Given the description of an element on the screen output the (x, y) to click on. 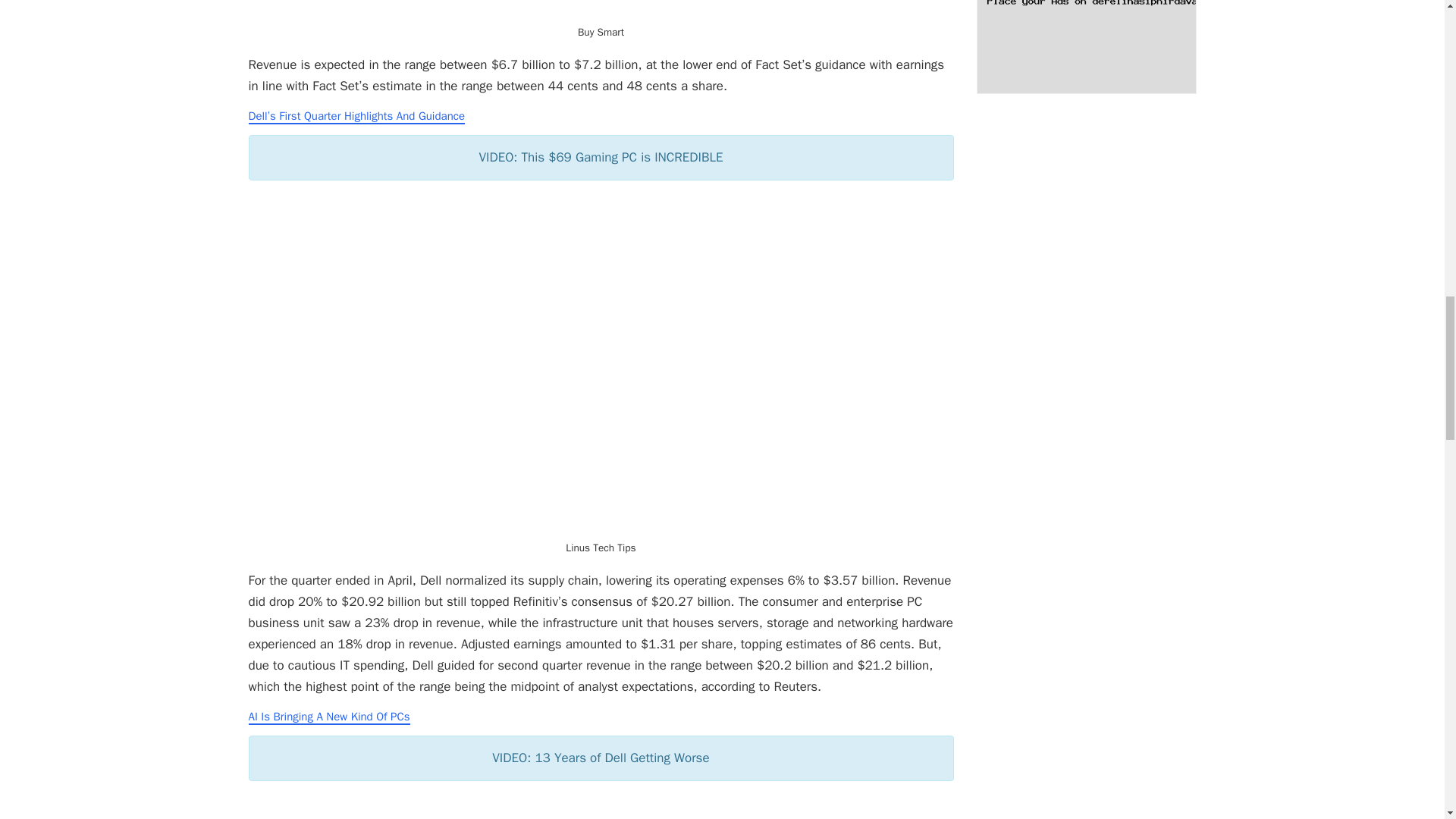
13 Years of Dell Getting Worse (600, 807)
AI Is Bringing A New Kind Of PCs (329, 717)
Dell vs HP Desktop Computer Comparison (600, 10)
